Given the description of an element on the screen output the (x, y) to click on. 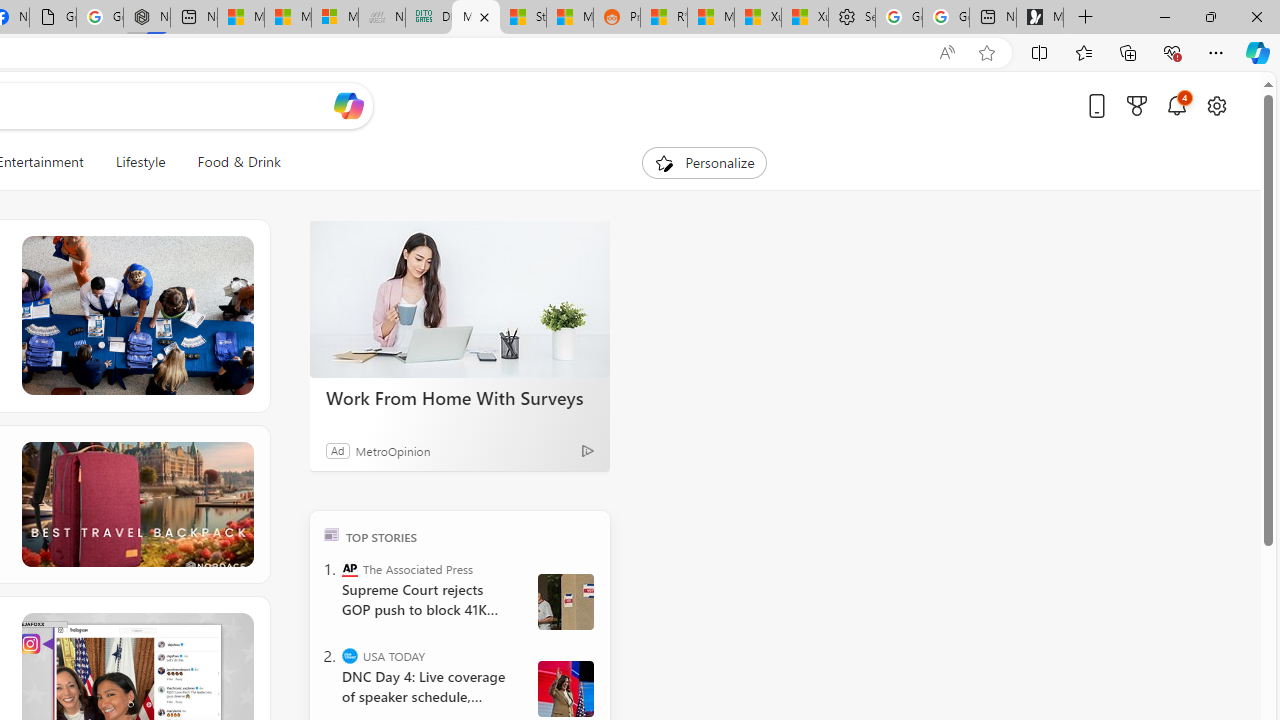
MetroOpinion (392, 450)
USA TODAY (349, 655)
